Given the description of an element on the screen output the (x, y) to click on. 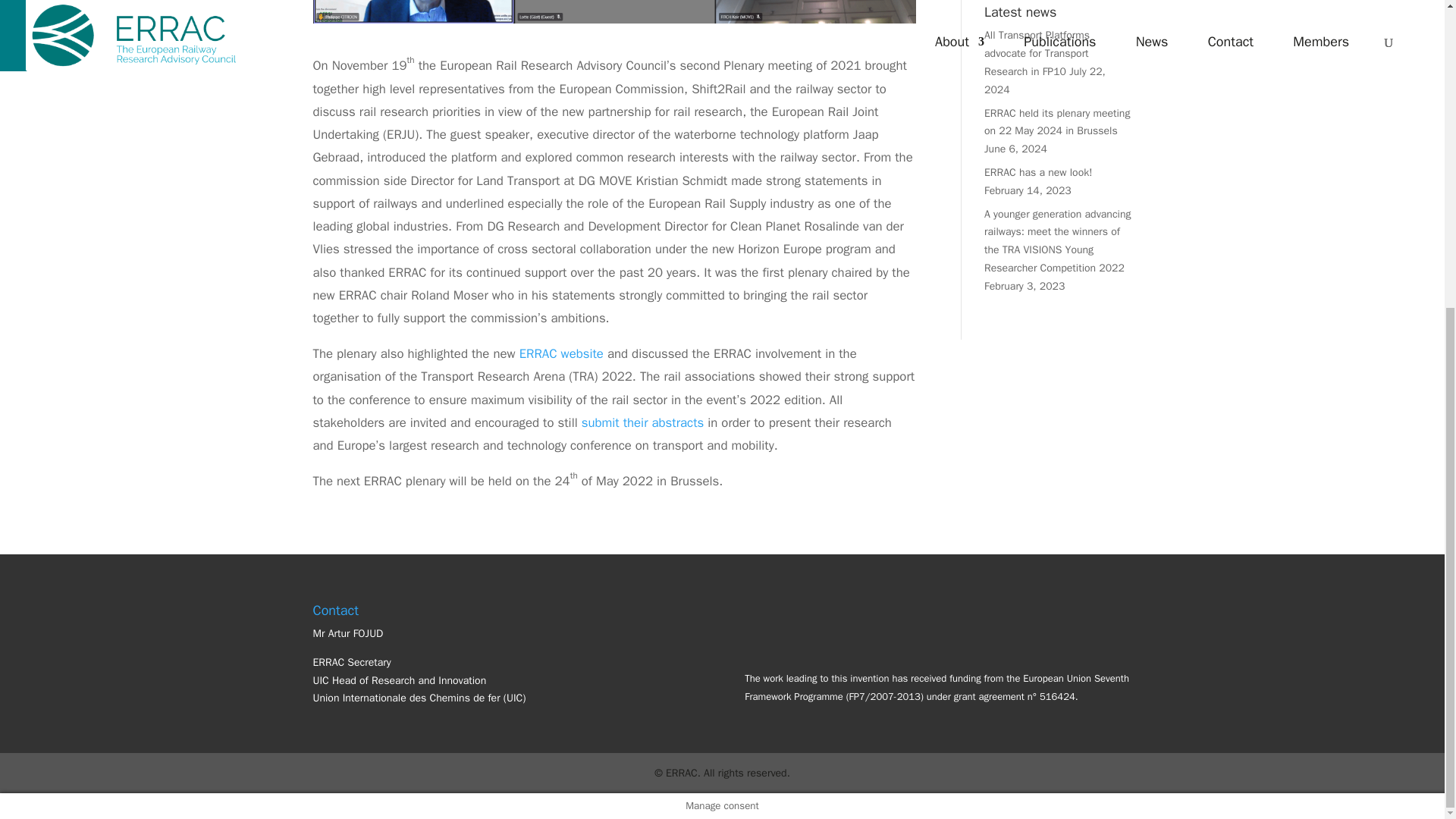
ERRAC has a new look! (1038, 172)
ERRAC held its plenary meeting on 22 May 2024 in Brussels (1056, 122)
submit their abstracts (642, 422)
ERRAC website (561, 353)
516424 (1055, 696)
